Given the description of an element on the screen output the (x, y) to click on. 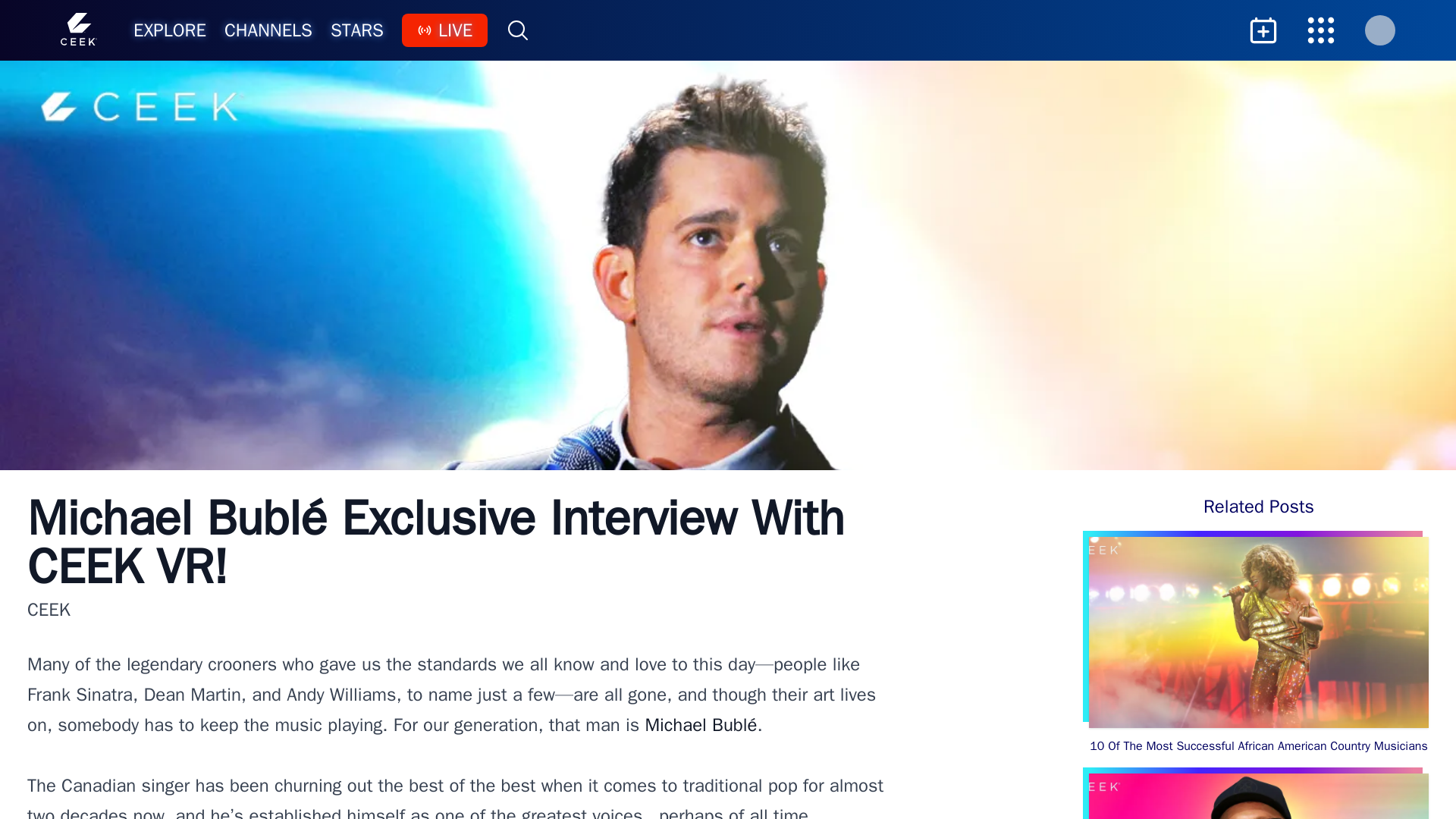
EXPLORE (169, 30)
CHANNELS (268, 30)
STARS (357, 30)
Mitchell Tenpenny Interview With CEEK VR! (1258, 796)
LIVE (444, 29)
10 Of The Most Successful African American Country Musicians (1258, 646)
